Given the description of an element on the screen output the (x, y) to click on. 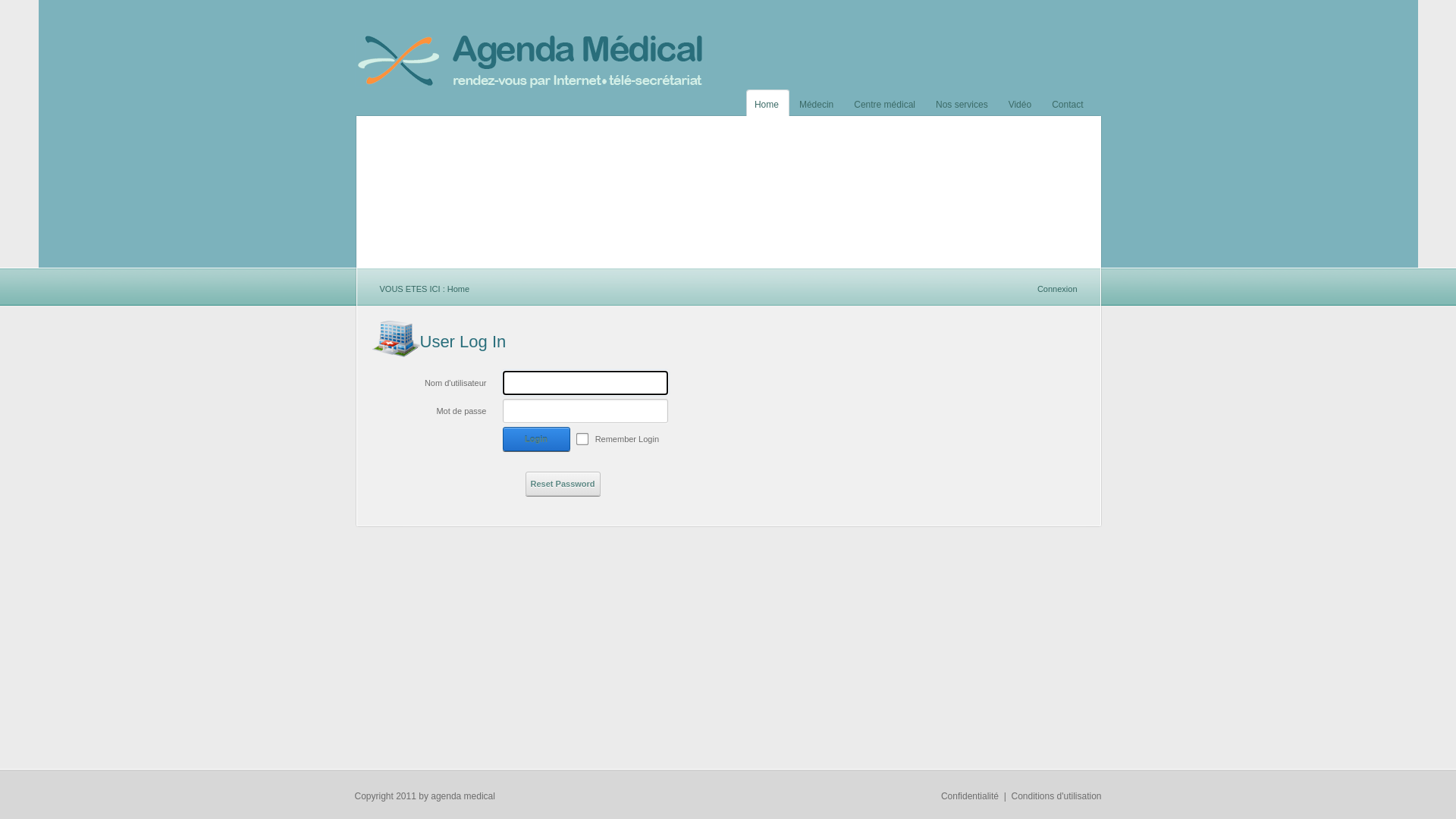
Reset Password Element type: text (562, 483)
Login Element type: text (536, 438)
Nos services Element type: text (966, 101)
Contact Element type: text (1072, 101)
Home Element type: text (458, 288)
Connexion Element type: text (1057, 288)
Home Element type: text (771, 101)
Conditions d'utilisation Element type: text (1055, 795)
